Given the description of an element on the screen output the (x, y) to click on. 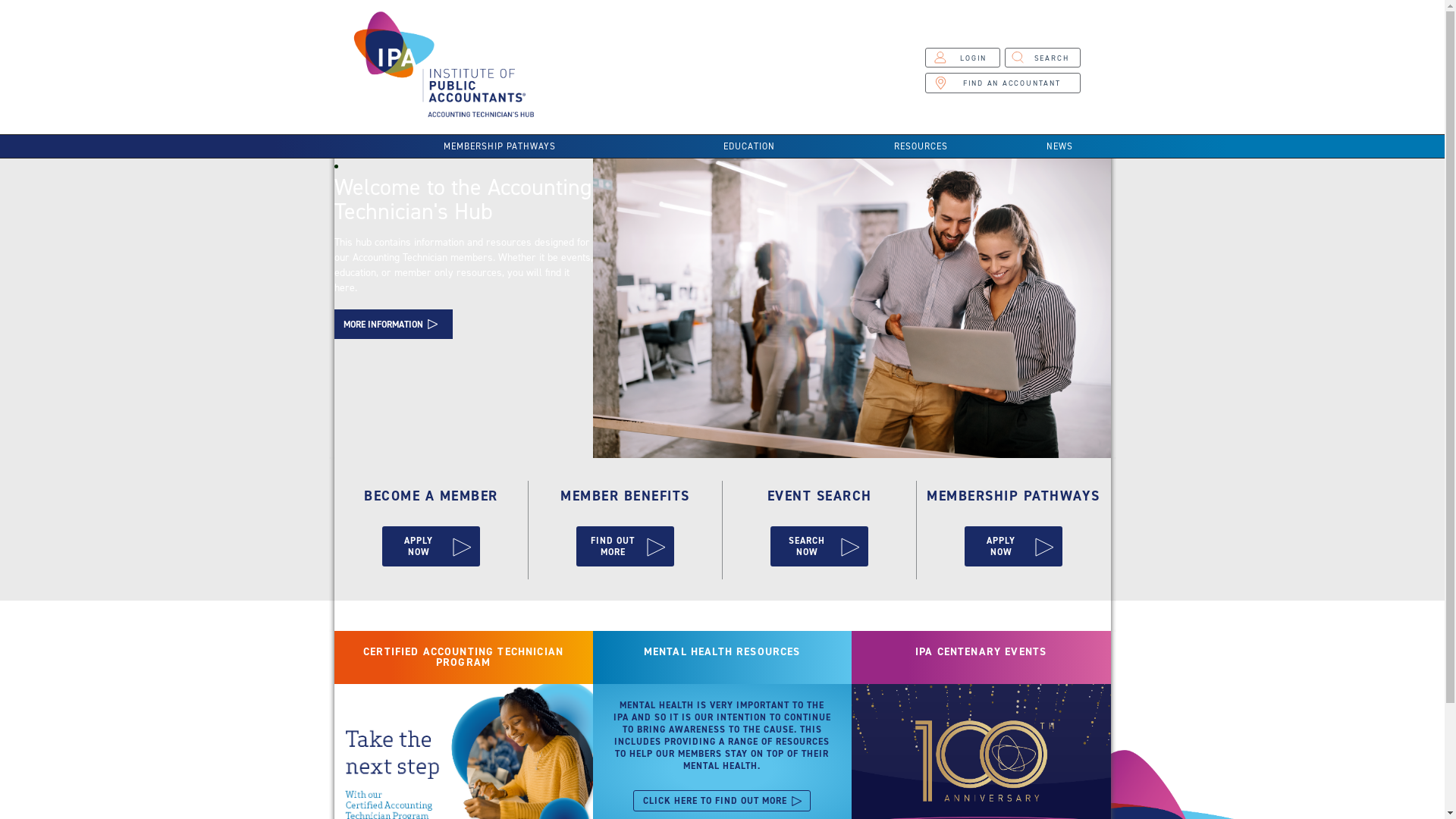
MEMBERSHIP PATHWAYS Element type: text (498, 145)
CLICK HERE TO FIND OUT MORE Element type: text (721, 800)
APPLY NOW Element type: text (431, 546)
FIND OUT
MORE Element type: text (625, 546)
RESOURCES Element type: text (920, 145)
ICON : SEARCH CREATED WITH SKETCH.
SEARCH Element type: text (1042, 57)
APPLY
NOW Element type: text (1013, 546)
SEARCH
NOW Element type: text (819, 546)
NEWS Element type: text (1059, 145)
MORE INFORMATION Element type: text (392, 323)
EDUCATION Element type: text (749, 145)
ICON : USER COPYCREATED WITH SKETCH.
LOGIN Element type: text (962, 57)
